Given the description of an element on the screen output the (x, y) to click on. 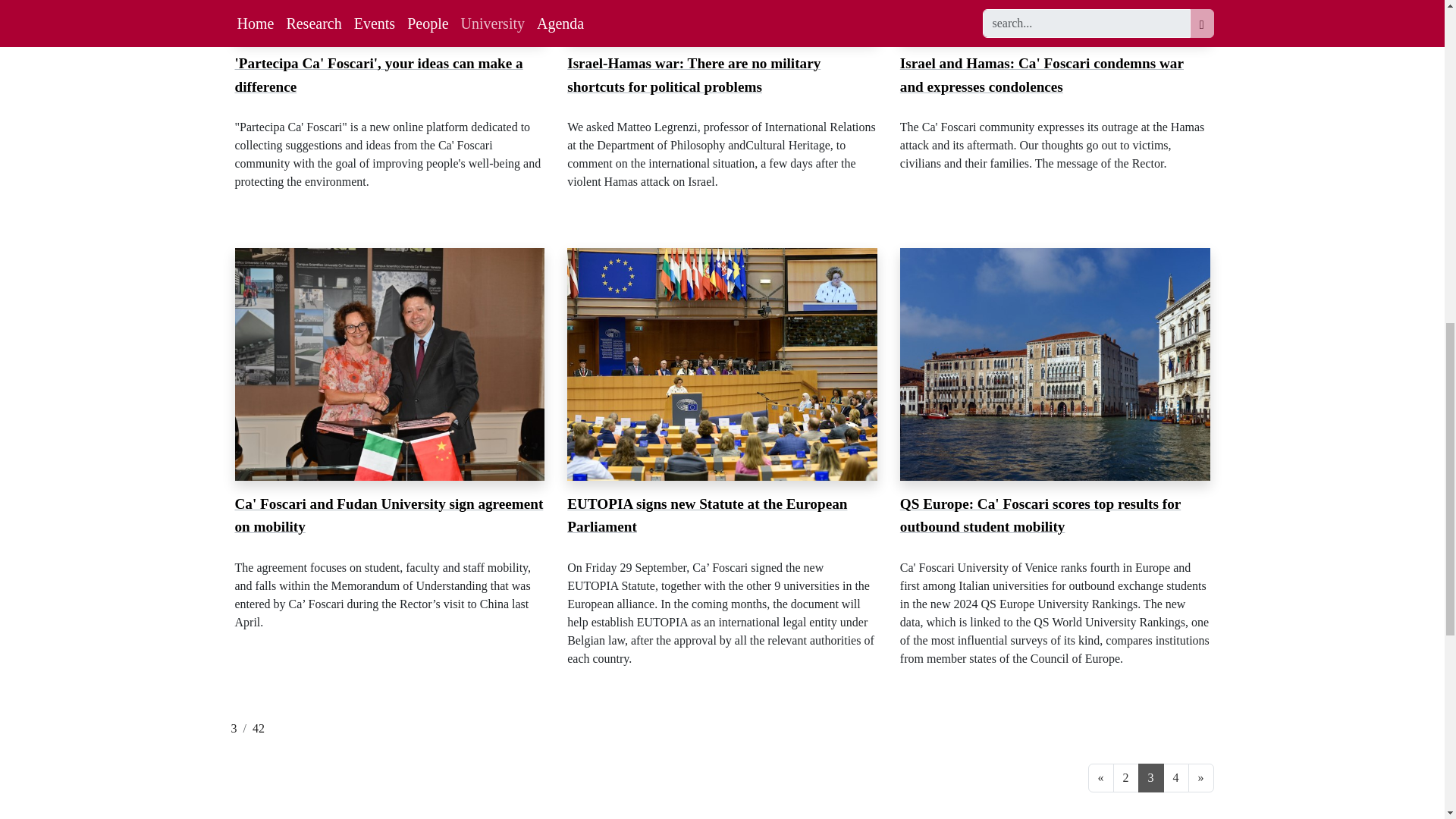
2 (1125, 777)
Ca' Foscari and Fudan University sign agreement on mobility (388, 515)
4 (1176, 777)
EUTOPIA signs new Statute at the European Parliament (707, 515)
'Partecipa Ca' Foscari', your ideas can make a difference (378, 75)
